Given the description of an element on the screen output the (x, y) to click on. 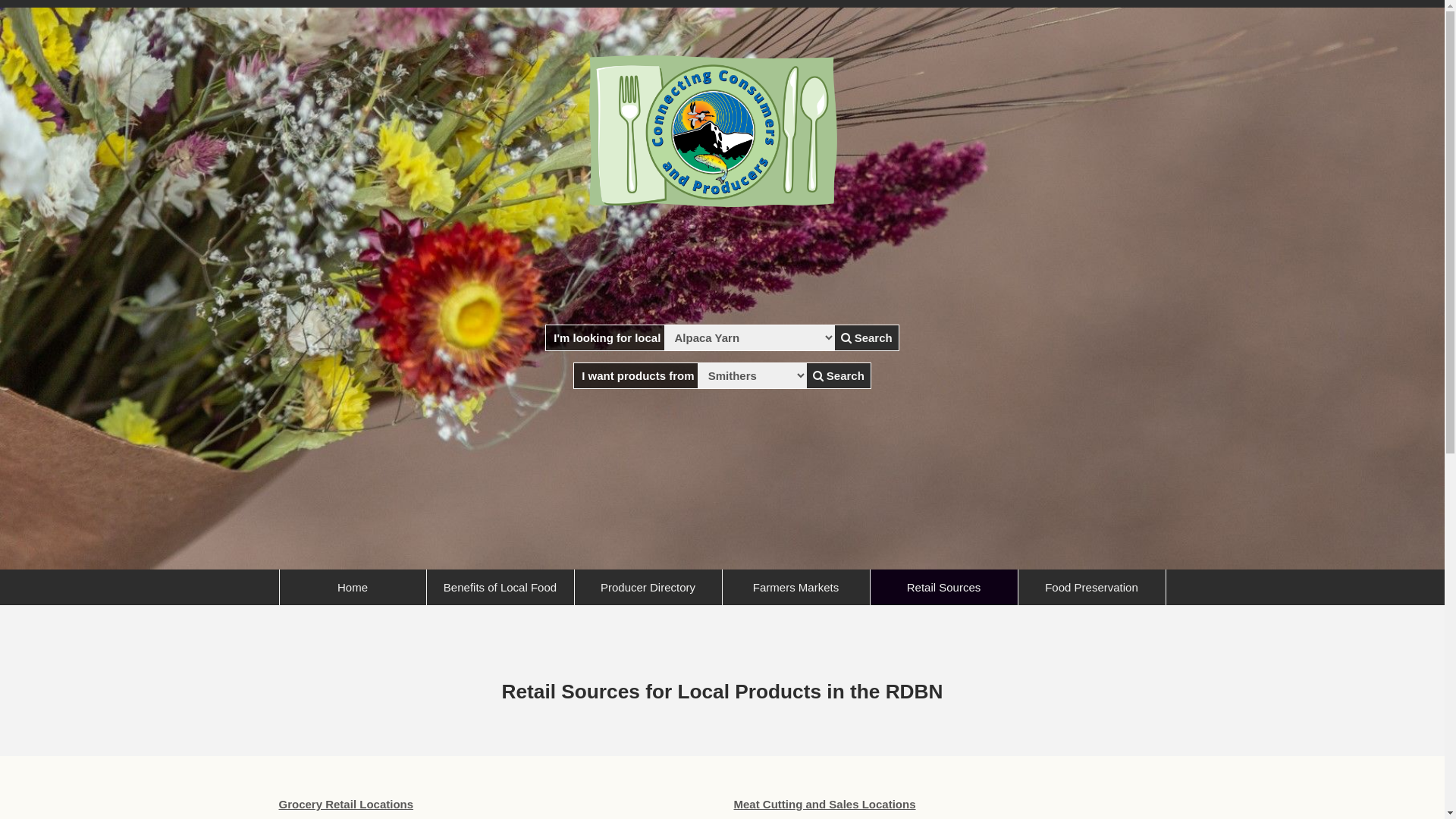
Home Element type: text (352, 587)
Benefits of Local Food Element type: text (499, 587)
Food Preservation Element type: text (1090, 587)
Producer Directory Element type: text (647, 587)
Search Element type: text (866, 337)
Search Element type: text (838, 375)
Retail Sources Element type: text (943, 587)
Farmers Markets Element type: text (795, 587)
